Given the description of an element on the screen output the (x, y) to click on. 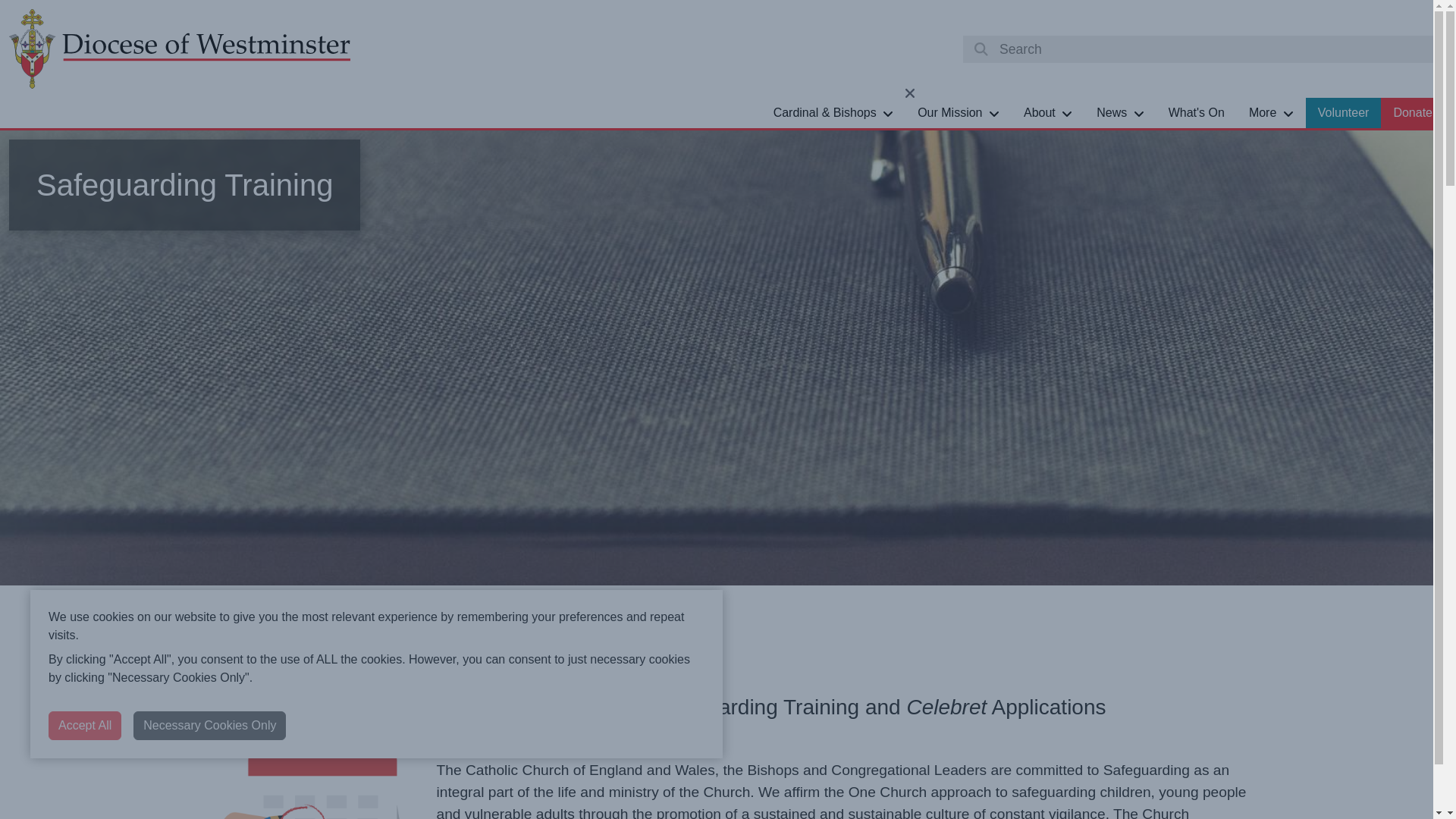
About (1047, 112)
Diocese of Westminster (179, 48)
News (1120, 112)
What's On (1196, 112)
